Given the description of an element on the screen output the (x, y) to click on. 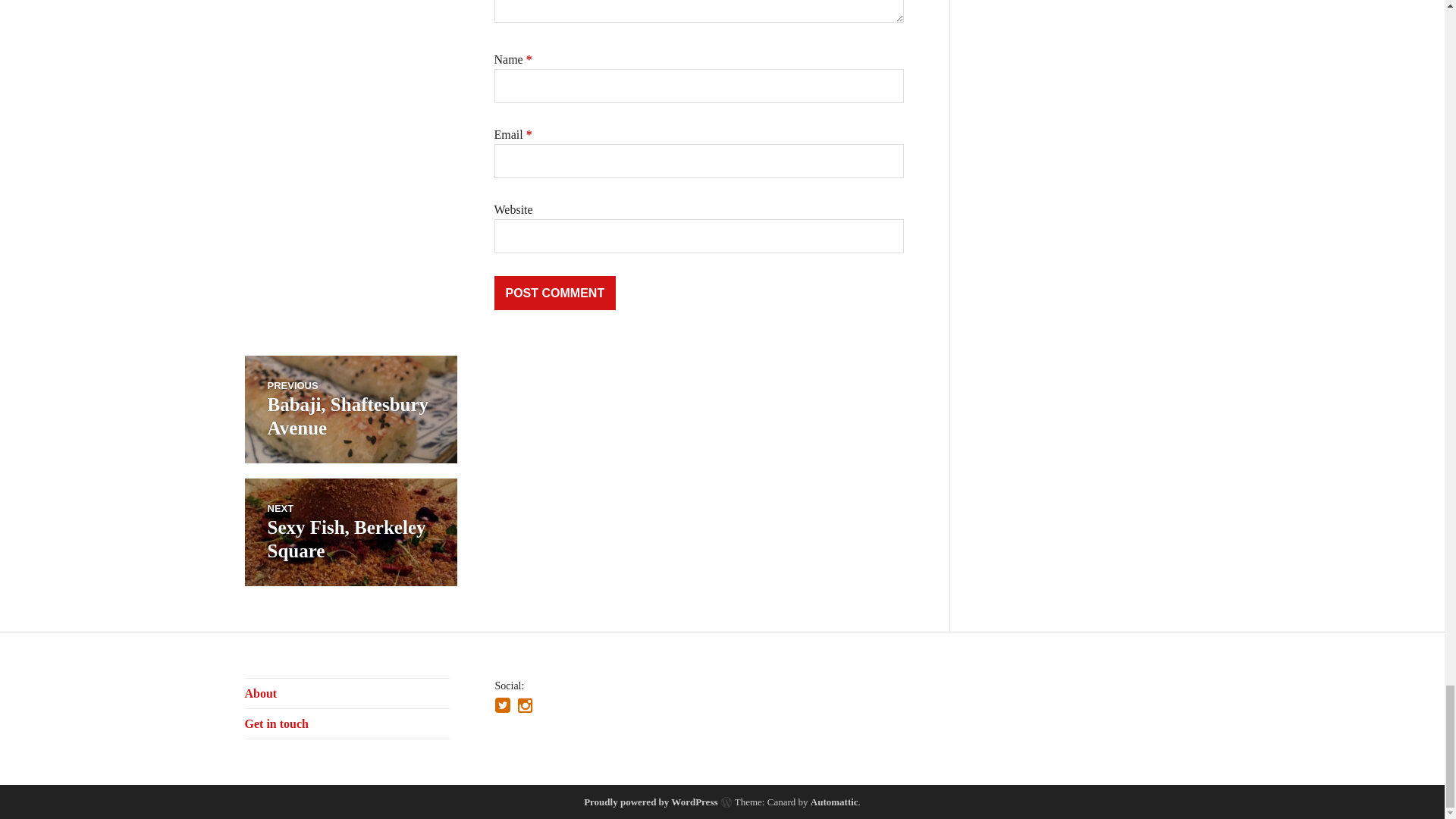
Post Comment (555, 293)
Post Comment (555, 293)
